Given the description of an element on the screen output the (x, y) to click on. 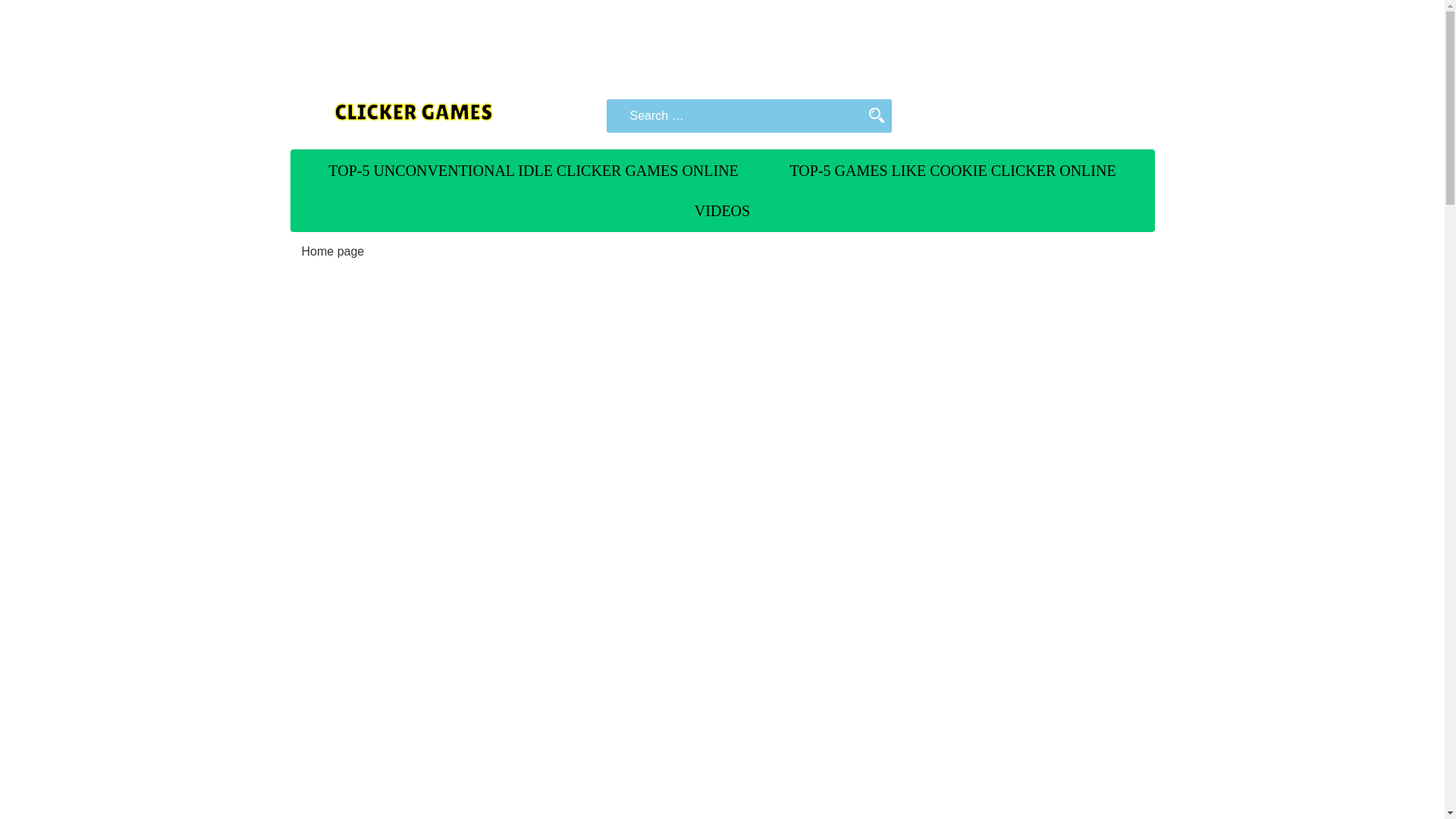
VIDEOS (721, 210)
Home page (333, 250)
TOP-5 GAMES LIKE COOKIE CLICKER ONLINE (951, 170)
TOP-5 UNCONVENTIONAL IDLE CLICKER GAMES ONLINE (533, 170)
